Given the description of an element on the screen output the (x, y) to click on. 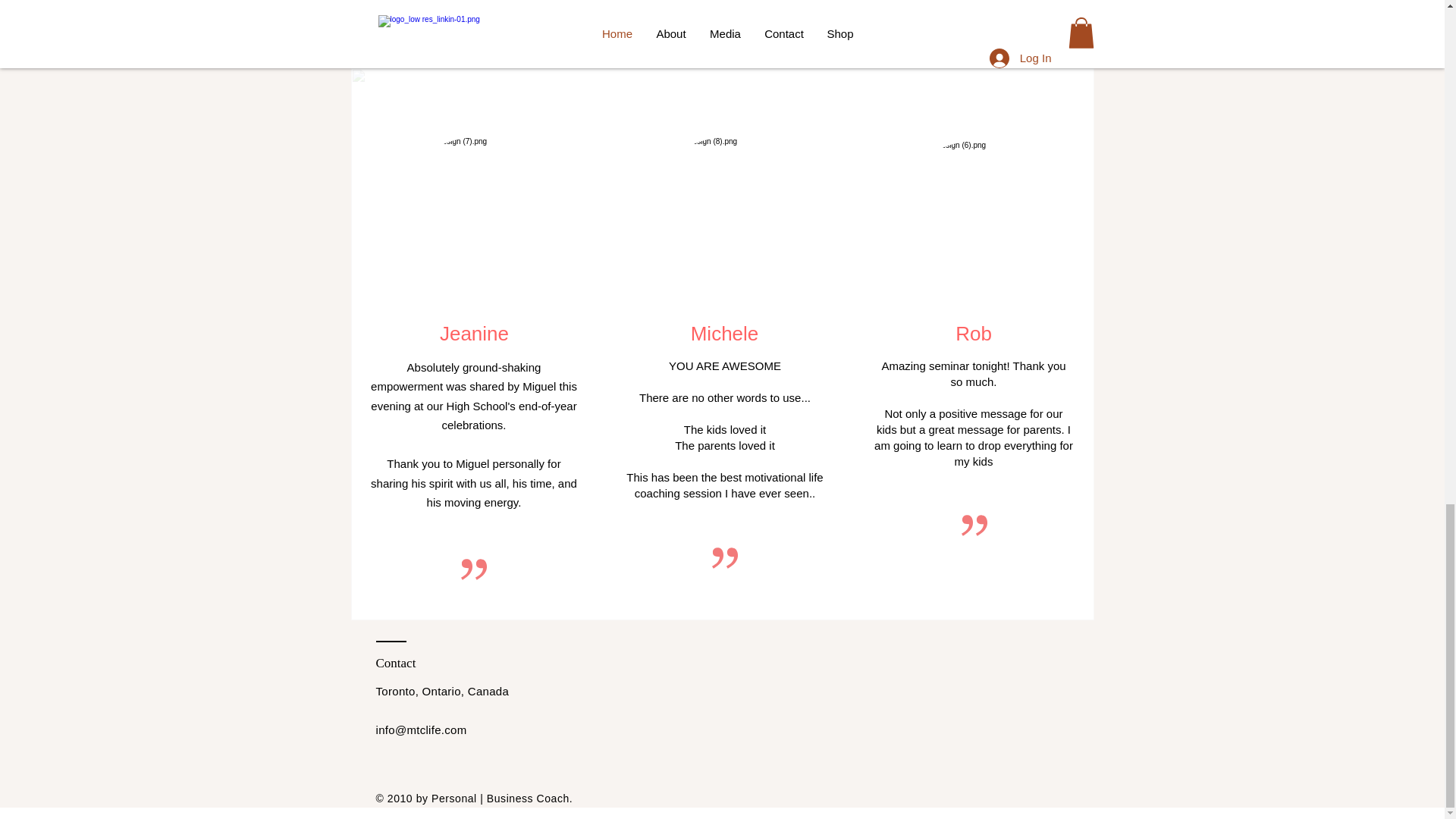
GettyImages-145680711.jpg (973, 216)
GettyImages-535587703.jpg (474, 213)
GettyImages-124893619.jpg (724, 213)
